Given the description of an element on the screen output the (x, y) to click on. 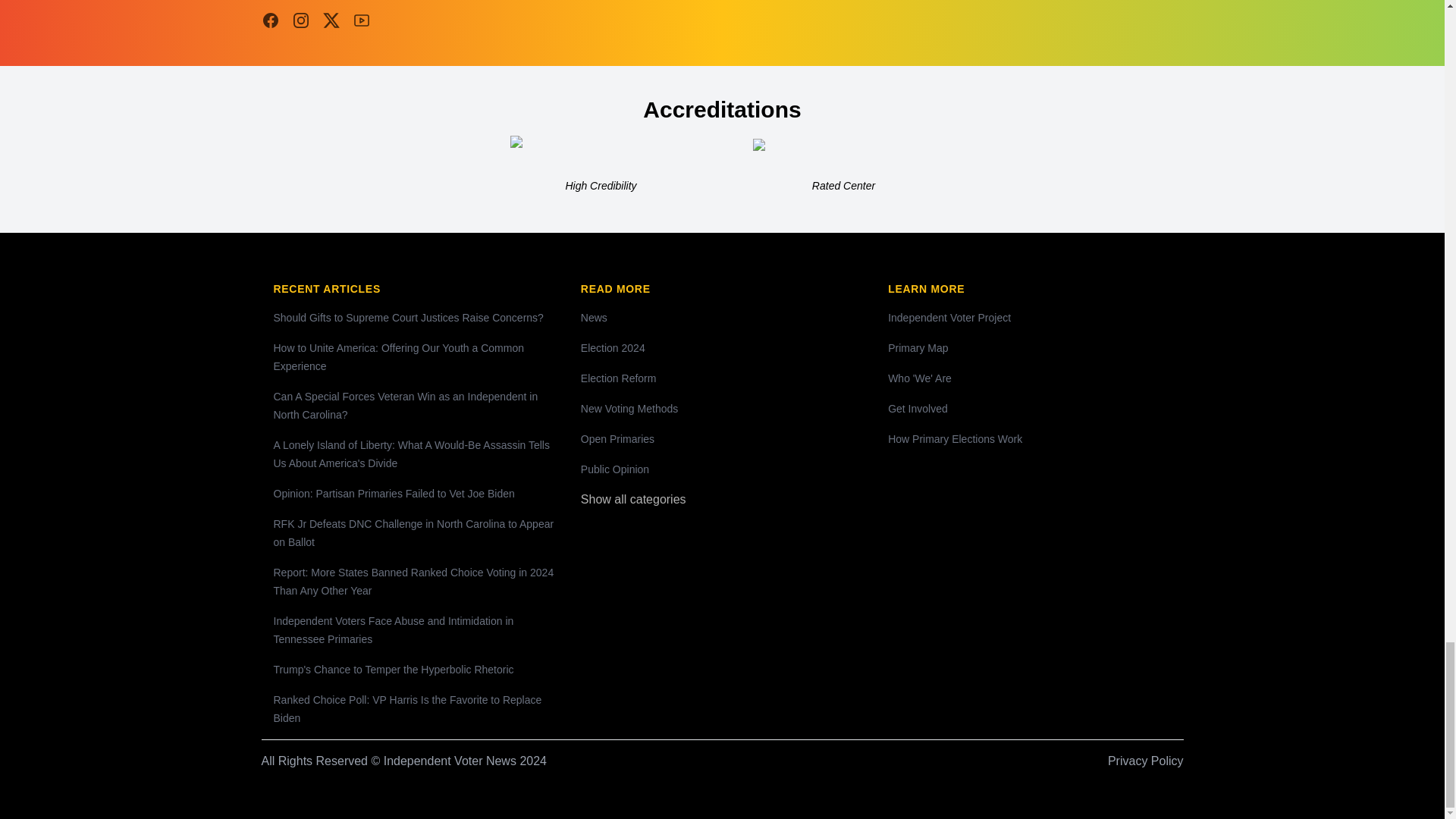
Should Gifts to Supreme Court Justices Raise Concerns? (408, 317)
